Given the description of an element on the screen output the (x, y) to click on. 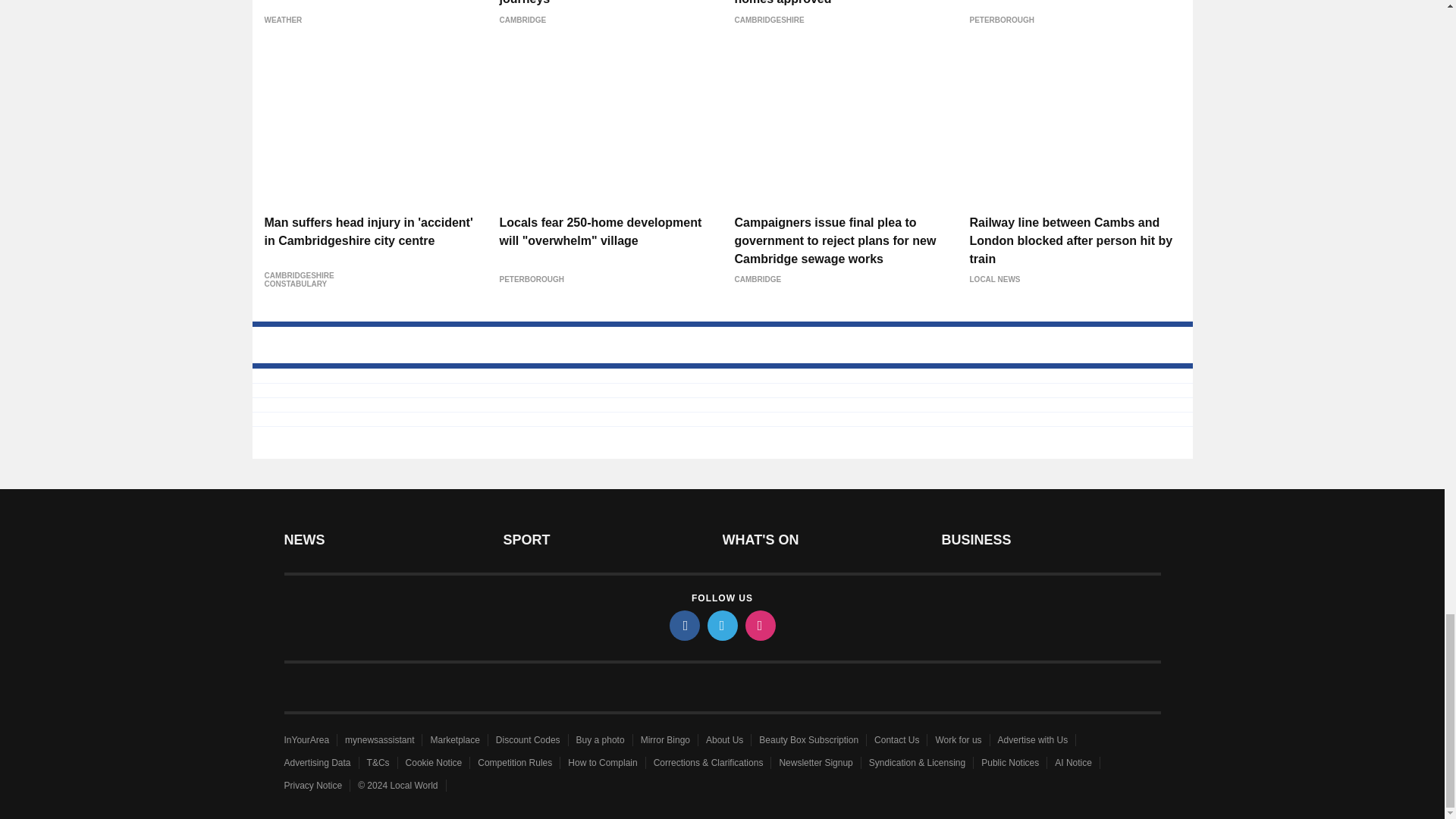
twitter (721, 625)
facebook (683, 625)
instagram (759, 625)
